Given the description of an element on the screen output the (x, y) to click on. 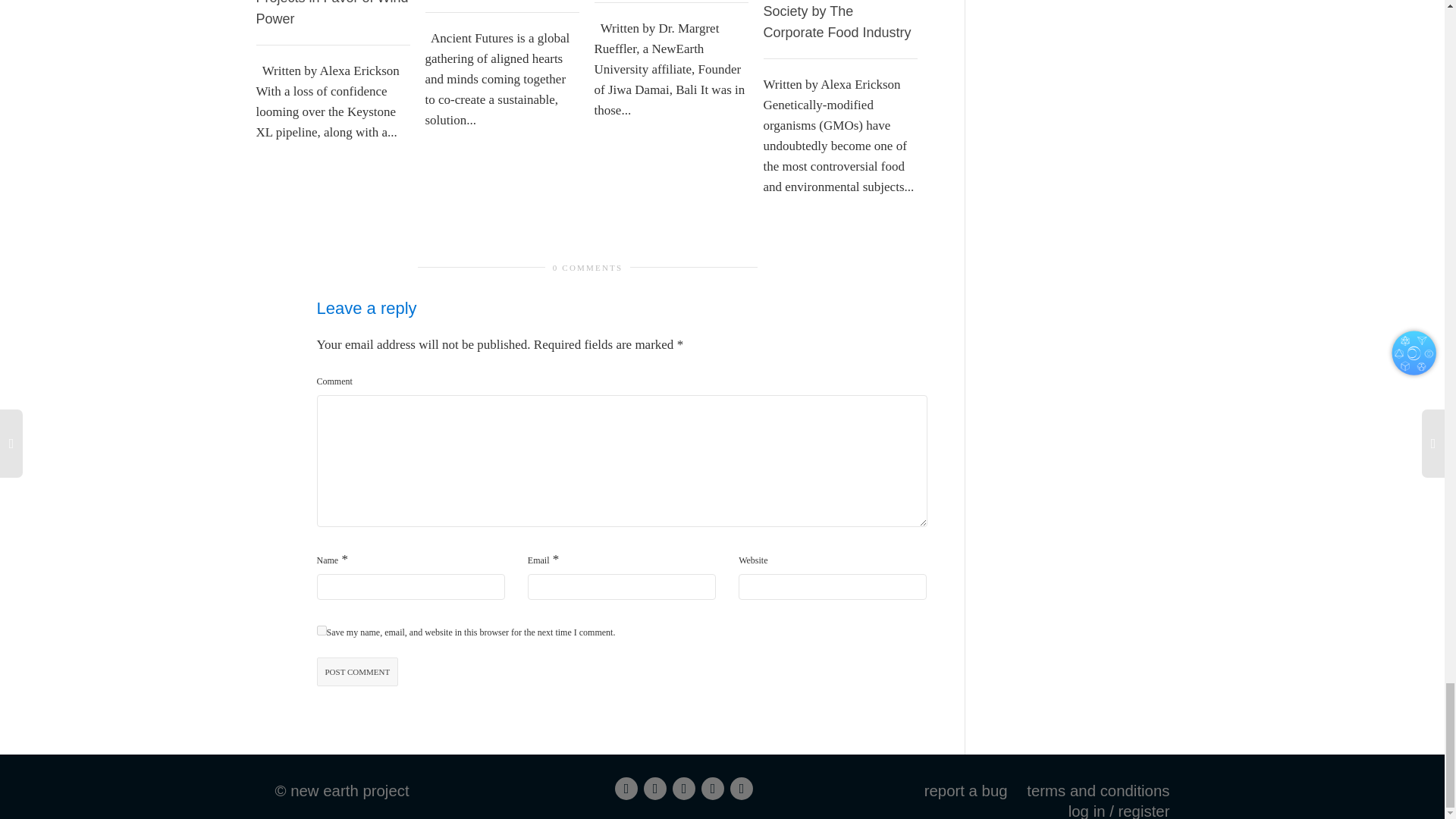
Post comment (357, 672)
yes (321, 630)
